Given the description of an element on the screen output the (x, y) to click on. 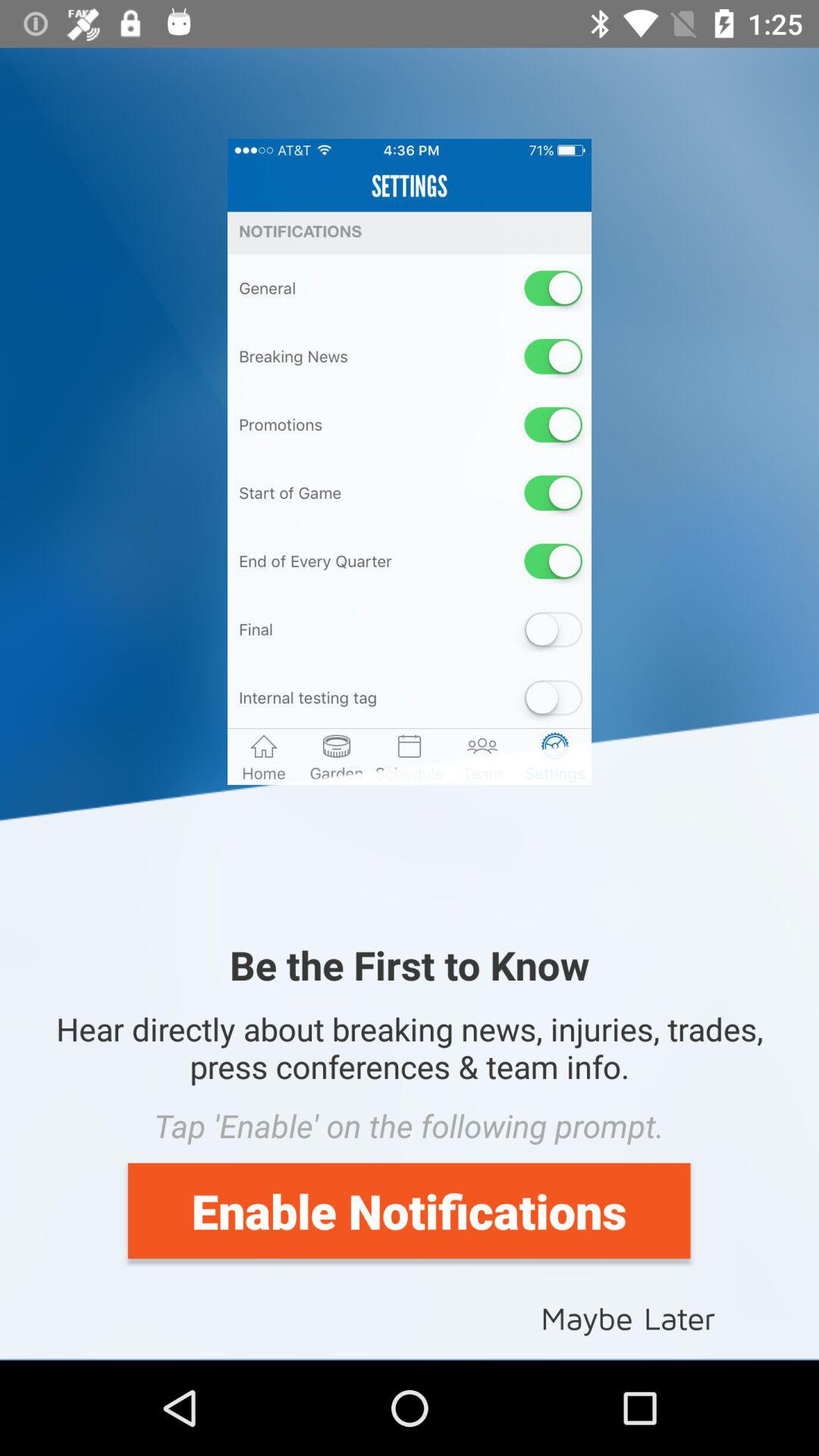
choose enable notifications item (408, 1210)
